Given the description of an element on the screen output the (x, y) to click on. 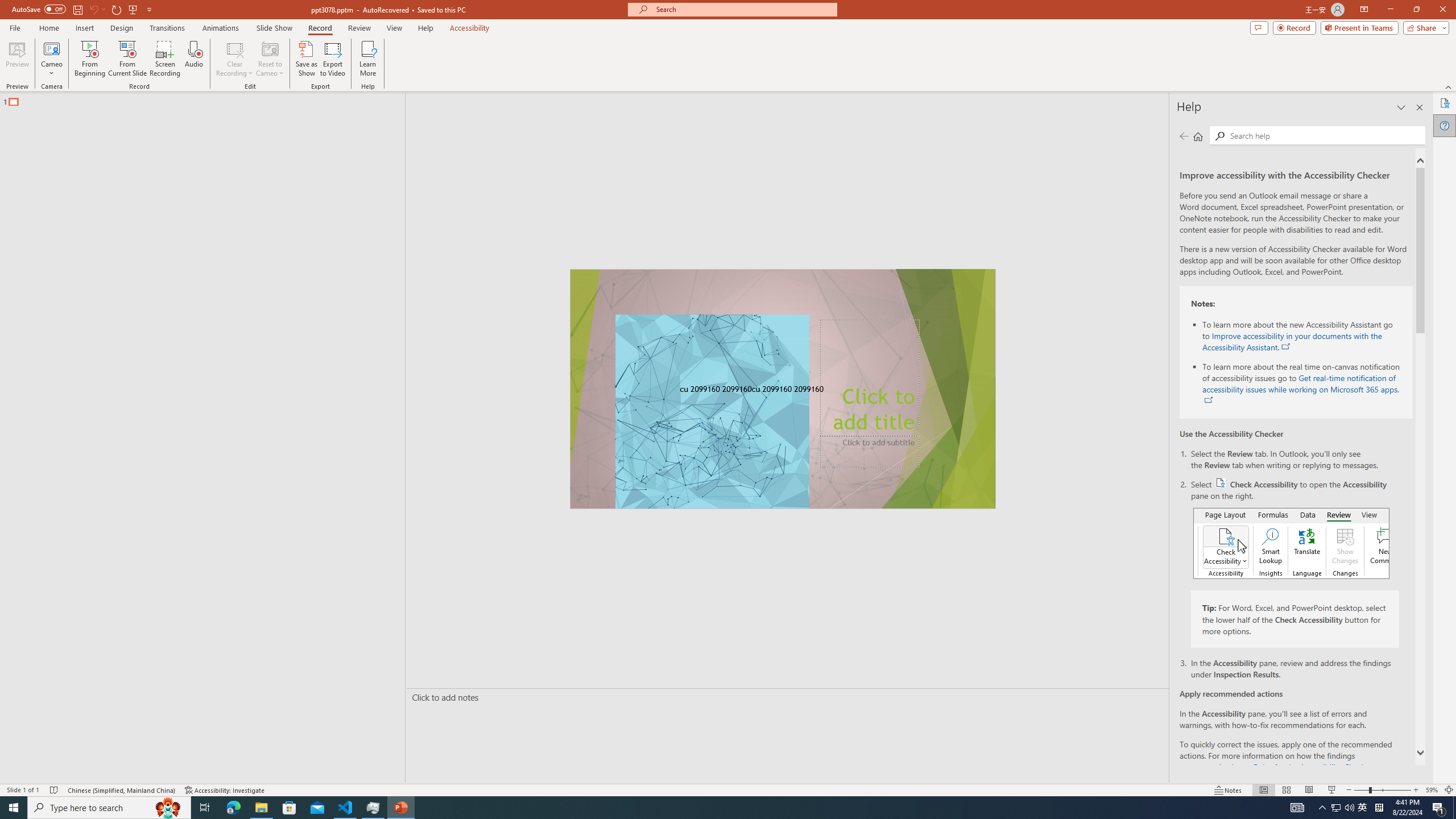
Check accessibility button (1220, 482)
